Given the description of an element on the screen output the (x, y) to click on. 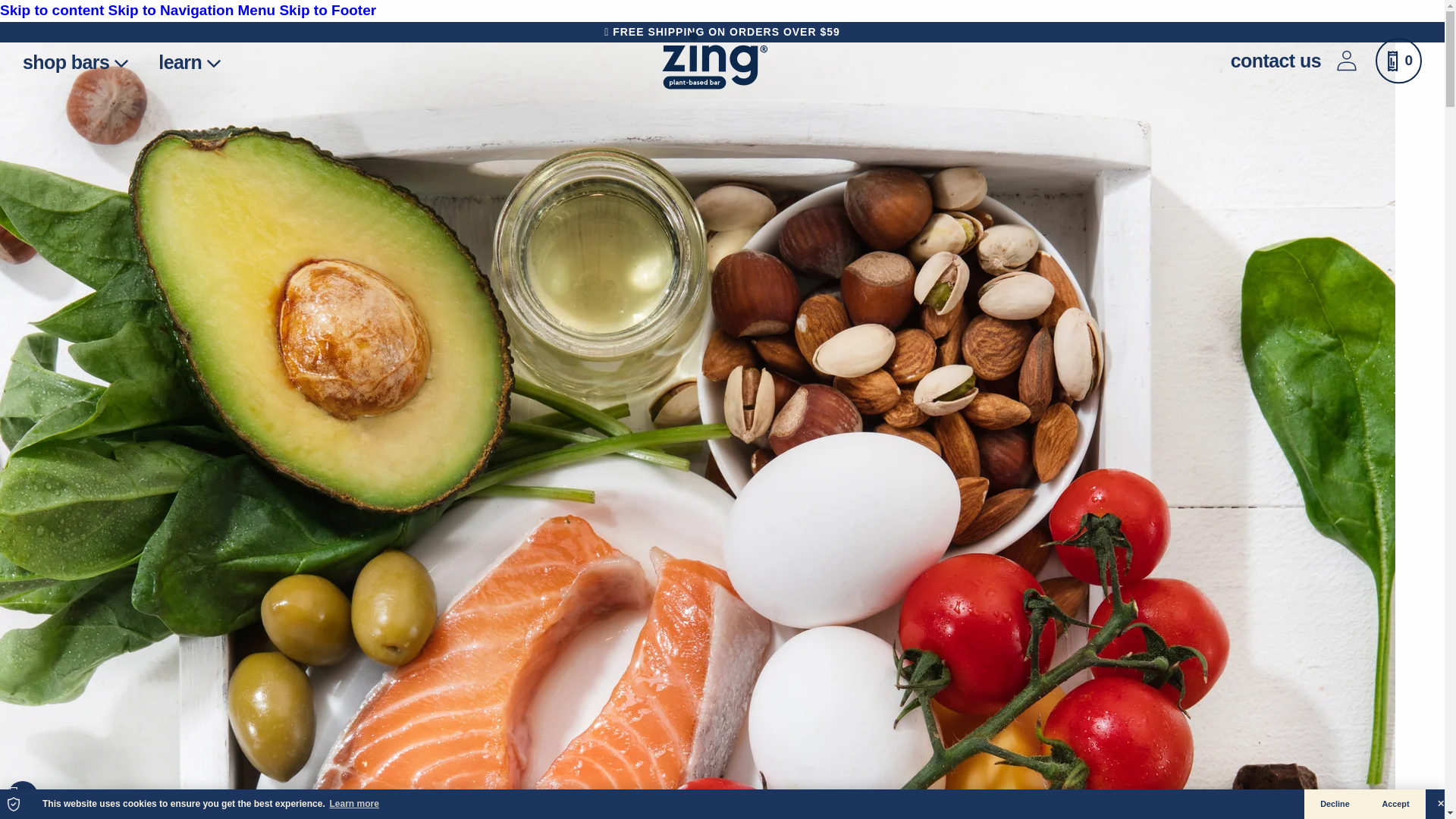
Skip to Footer (327, 10)
Learn more (353, 804)
Decline (1334, 804)
Cart (1398, 60)
Zing (715, 60)
Skip to content (53, 10)
Skip to Navigation Menu (193, 10)
Accept (1395, 804)
arrow down (121, 63)
arrow down (213, 63)
shop bars arrow down (73, 60)
